Given the description of an element on the screen output the (x, y) to click on. 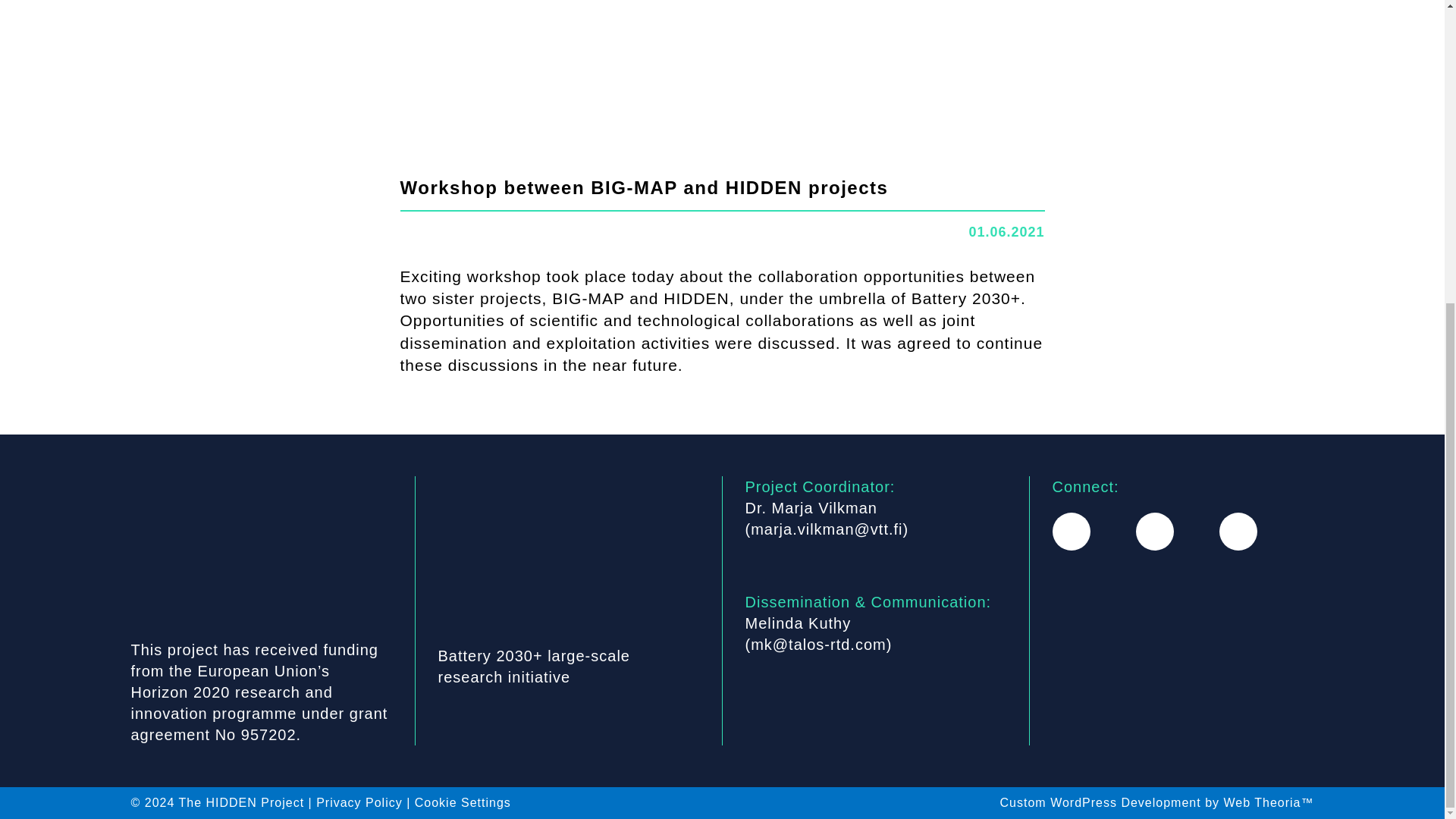
Privacy Policy (359, 802)
Cookie Settings (462, 802)
